Given the description of an element on the screen output the (x, y) to click on. 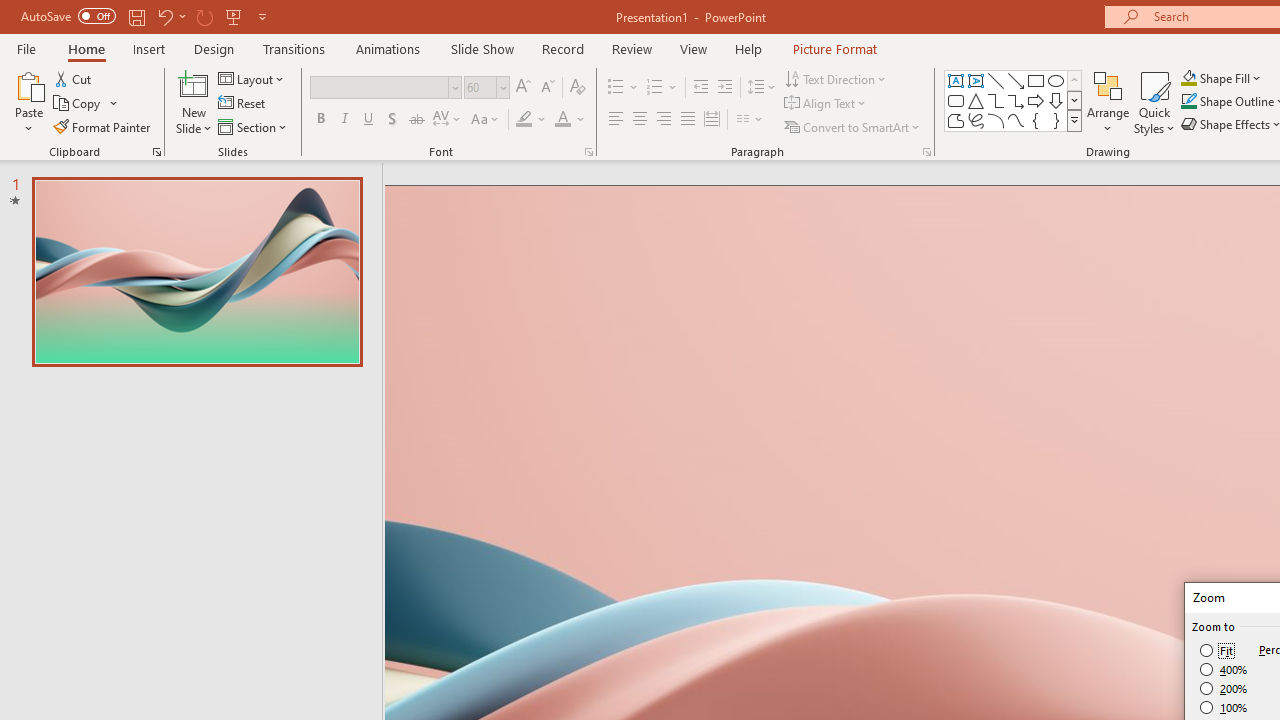
400% (1224, 669)
100% (1224, 707)
